Given the description of an element on the screen output the (x, y) to click on. 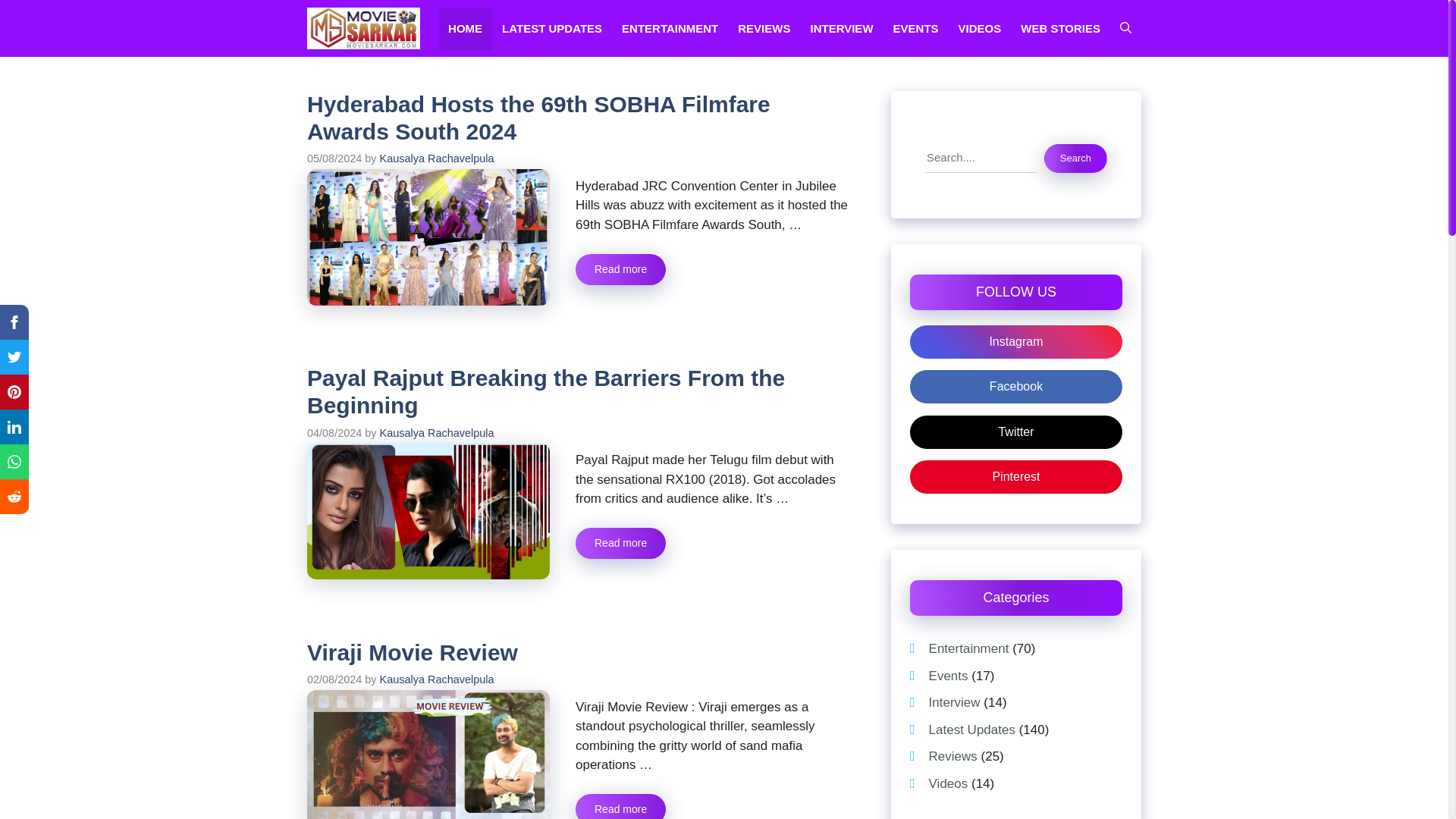
View all posts by Kausalya Rachavelpula (437, 158)
View all posts by Kausalya Rachavelpula (437, 432)
REVIEWS (763, 28)
Kausalya Rachavelpula (437, 432)
WEB STORIES (1059, 28)
INTERVIEW (840, 28)
Kausalya Rachavelpula (437, 679)
Kausalya Rachavelpula (437, 158)
Payal Rajput Breaking the Barriers From the Beginning (545, 391)
VIDEOS (980, 28)
View all posts by Kausalya Rachavelpula (437, 679)
ENTERTAINMENT (669, 28)
Movie Sarkar (363, 28)
Payal Rajput Breaking the Barriers From the Beginning (620, 542)
Viraji Movie Review (620, 806)
